Given the description of an element on the screen output the (x, y) to click on. 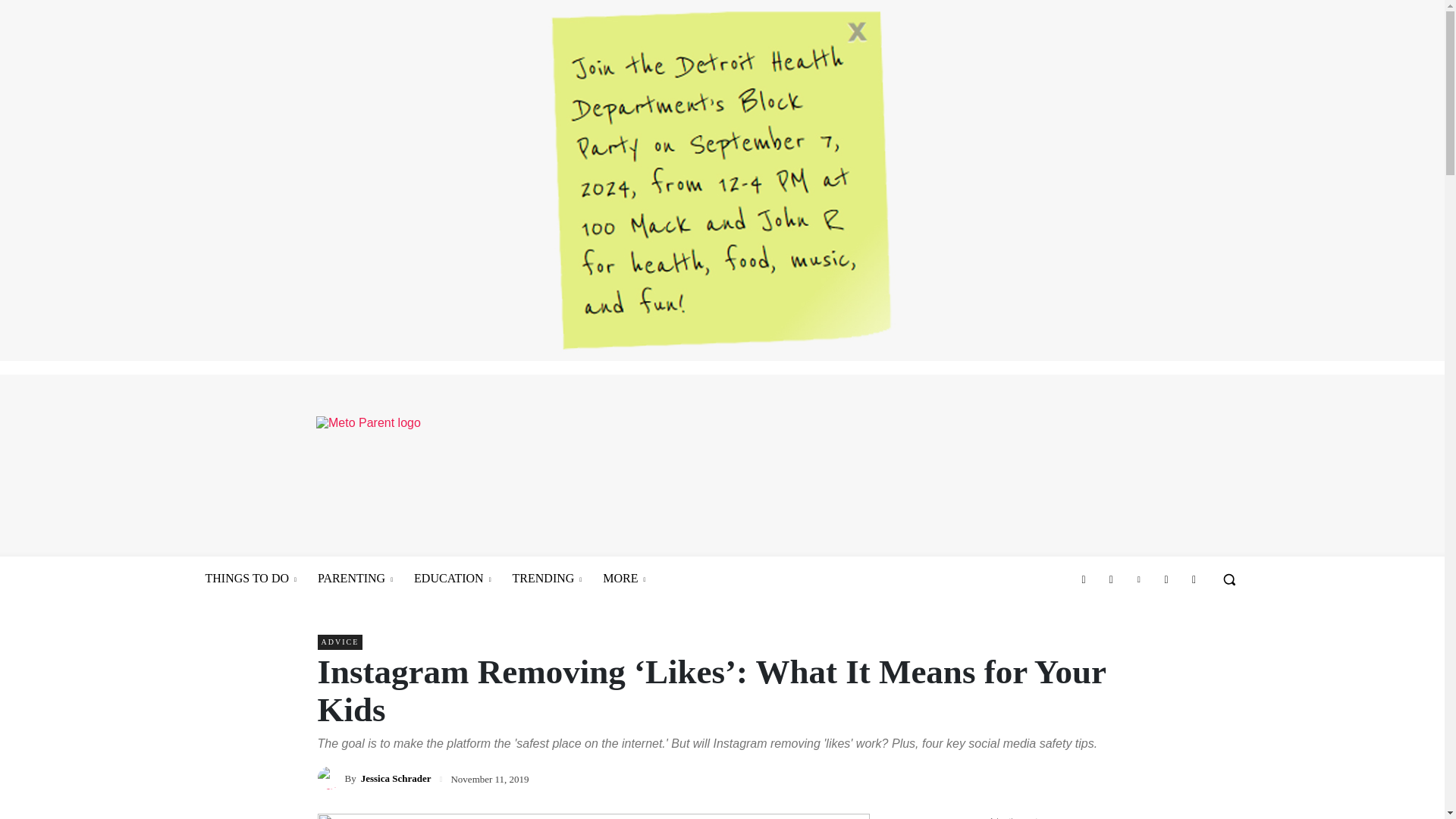
Twitter (1166, 578)
Pinterest (1139, 578)
Facebook (1083, 578)
Instagram (1110, 578)
Youtube (1193, 578)
